Given the description of an element on the screen output the (x, y) to click on. 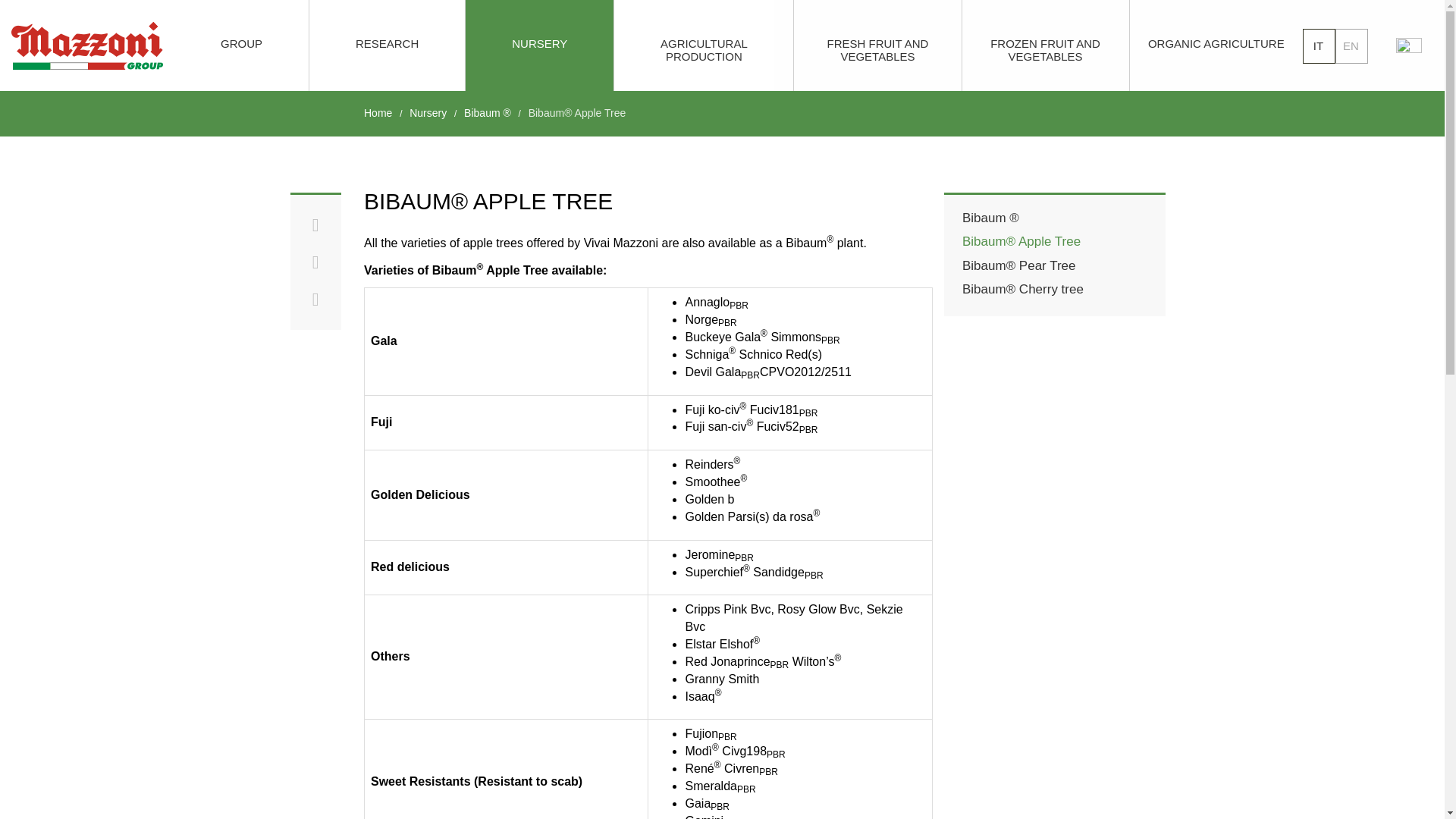
FROZEN FRUIT AND VEGETABLES (1044, 45)
FRESH FRUIT AND VEGETABLES (876, 45)
Home (377, 112)
RESEARCH (386, 45)
EN (1351, 45)
Nursery (427, 112)
Vai a Nursery. (427, 112)
NURSERY (538, 45)
GROUP (241, 45)
IT (1319, 45)
ORGANIC AGRICULTURE (1216, 45)
AGRICULTURAL PRODUCTION (703, 45)
Mazzoni (87, 45)
Vai a Mazzoni. (377, 112)
